Given the description of an element on the screen output the (x, y) to click on. 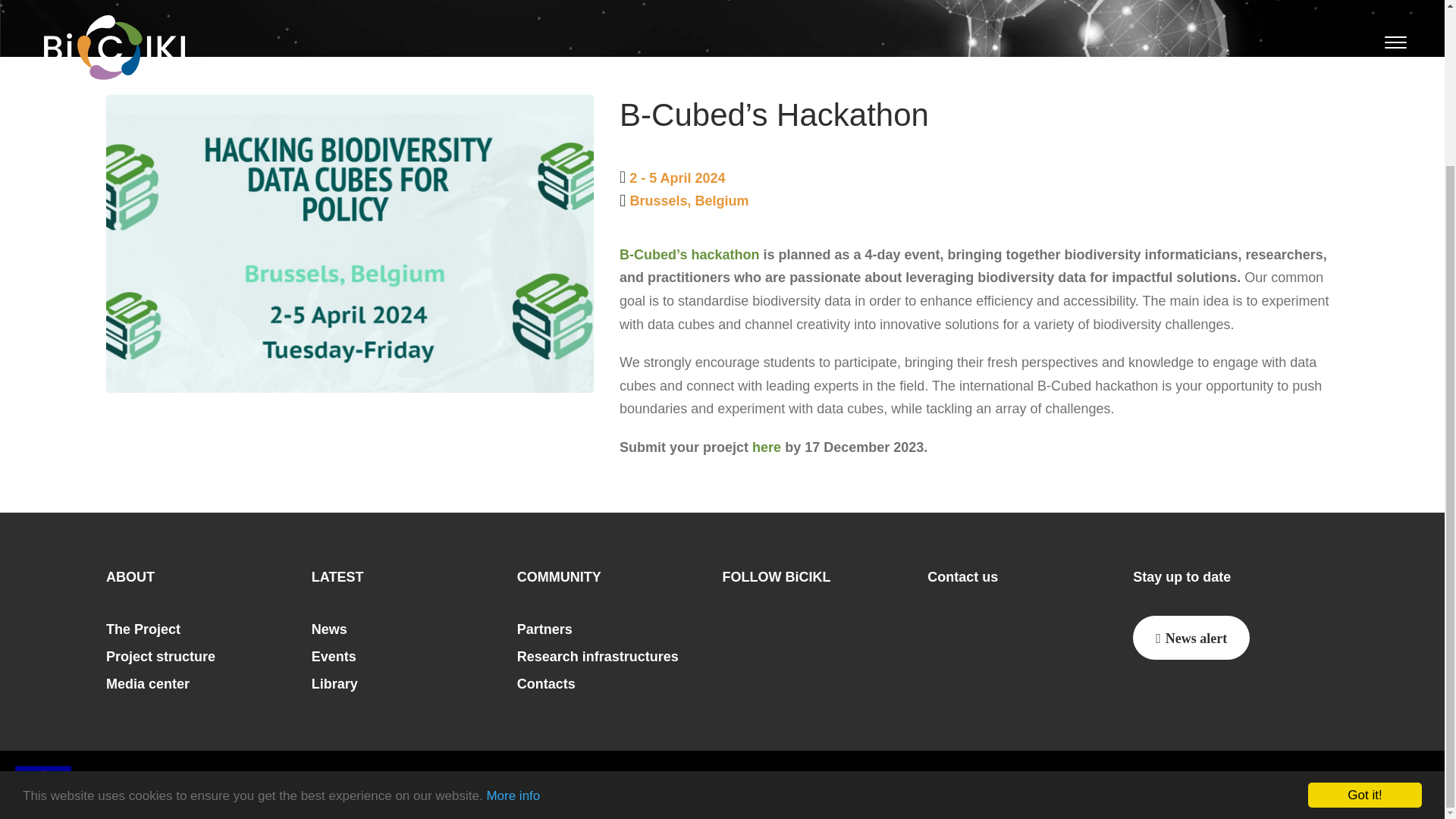
More info (513, 633)
Media center (147, 683)
News (329, 629)
Contacts (545, 683)
The Project (143, 629)
Project structure (160, 656)
Research infrastructures (597, 656)
Events (333, 656)
here (766, 447)
Pensoft (1300, 784)
Partners (544, 629)
Privacy Policy (957, 784)
Got it! (1364, 636)
Library (334, 683)
News alert (1190, 637)
